Given the description of an element on the screen output the (x, y) to click on. 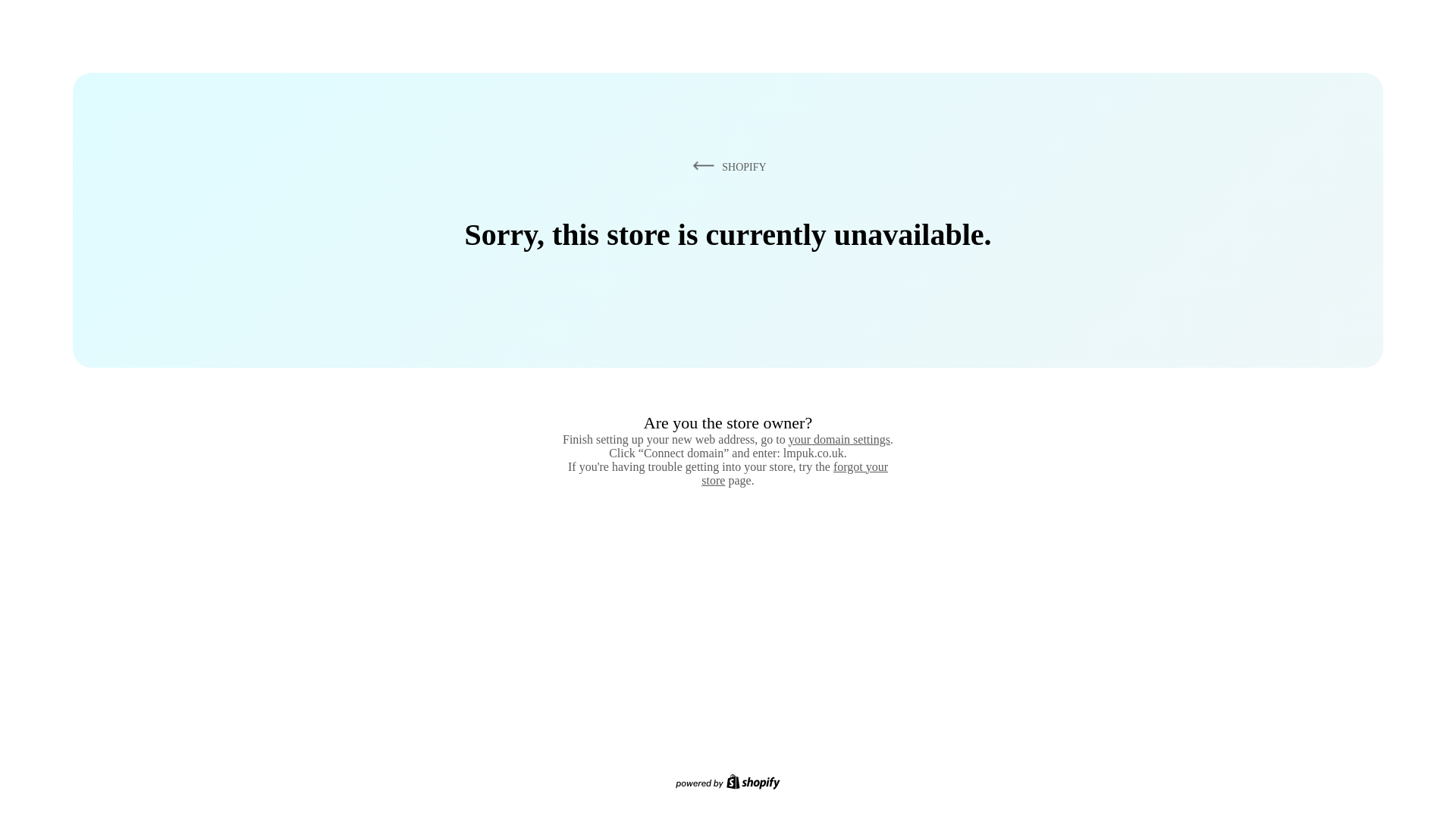
SHOPIFY (726, 166)
your domain settings (839, 439)
forgot your store (794, 473)
